Given the description of an element on the screen output the (x, y) to click on. 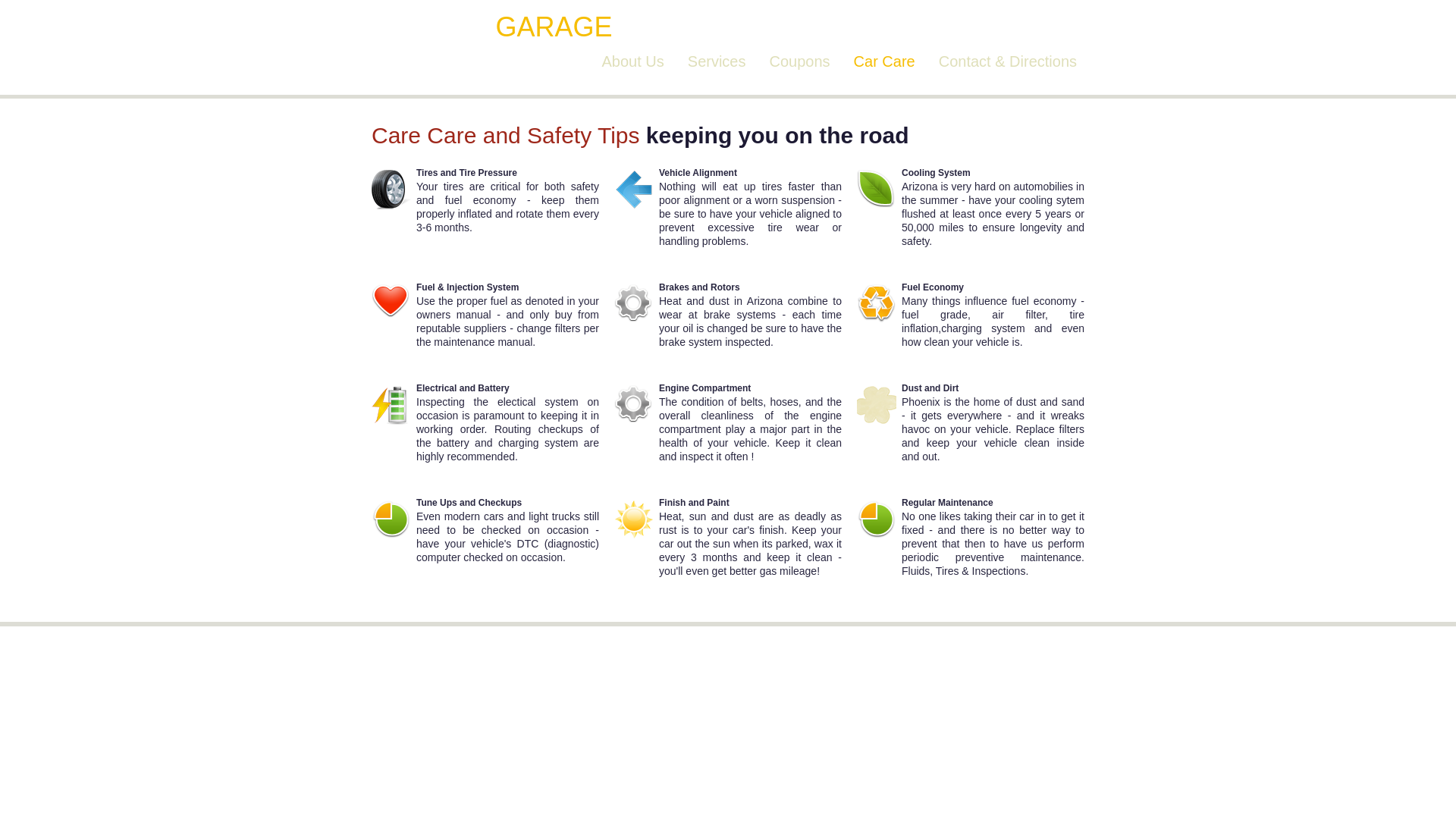
About Us Element type: text (633, 61)
Car Care Element type: text (884, 61)
Coupons Element type: text (798, 61)
Services Element type: text (716, 61)
Contact & Directions Element type: text (1007, 61)
19th Ave GARAGE    602-212-1552 Element type: text (594, 26)
